Given the description of an element on the screen output the (x, y) to click on. 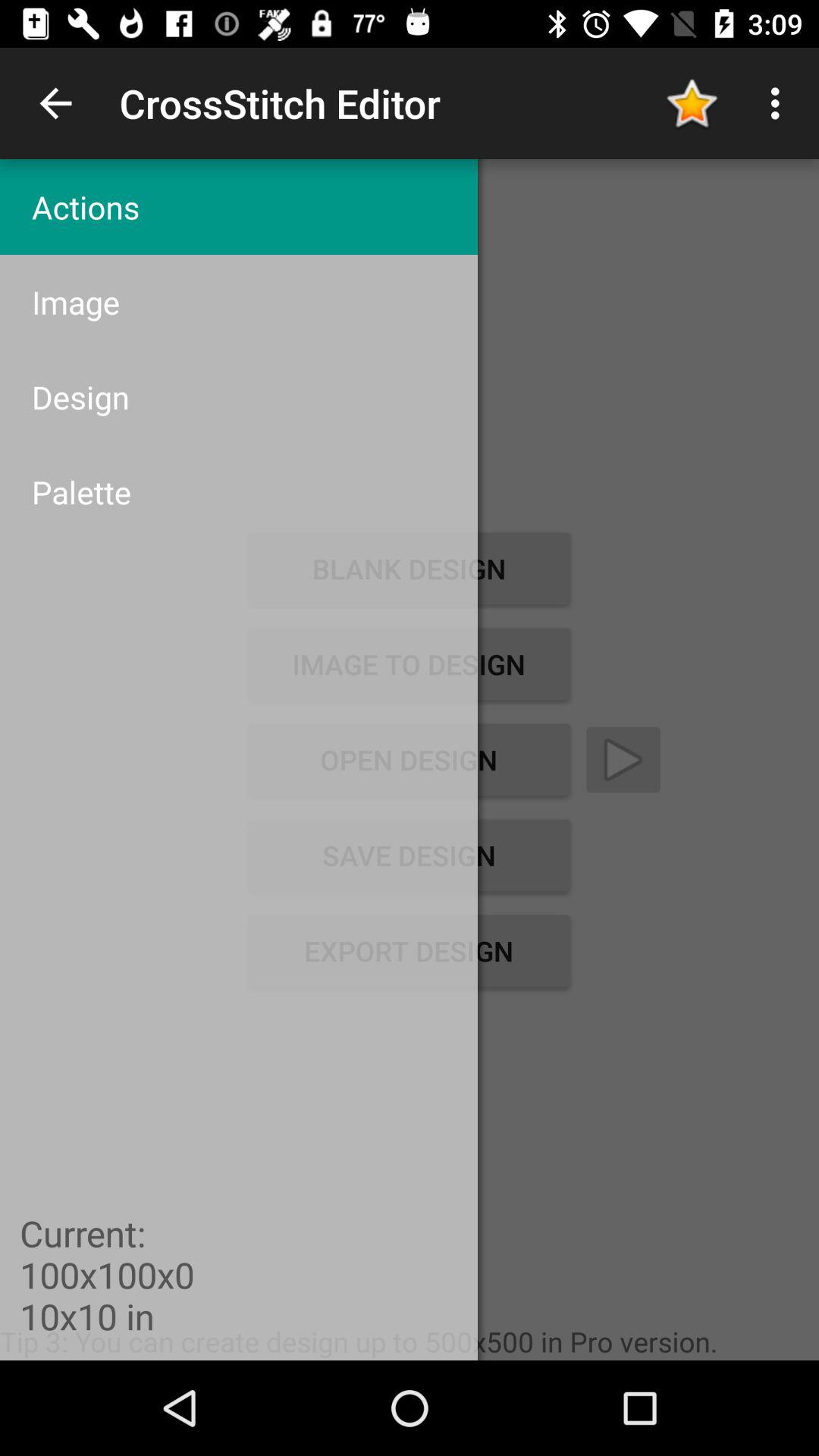
launch the icon above the image item (238, 206)
